Given the description of an element on the screen output the (x, y) to click on. 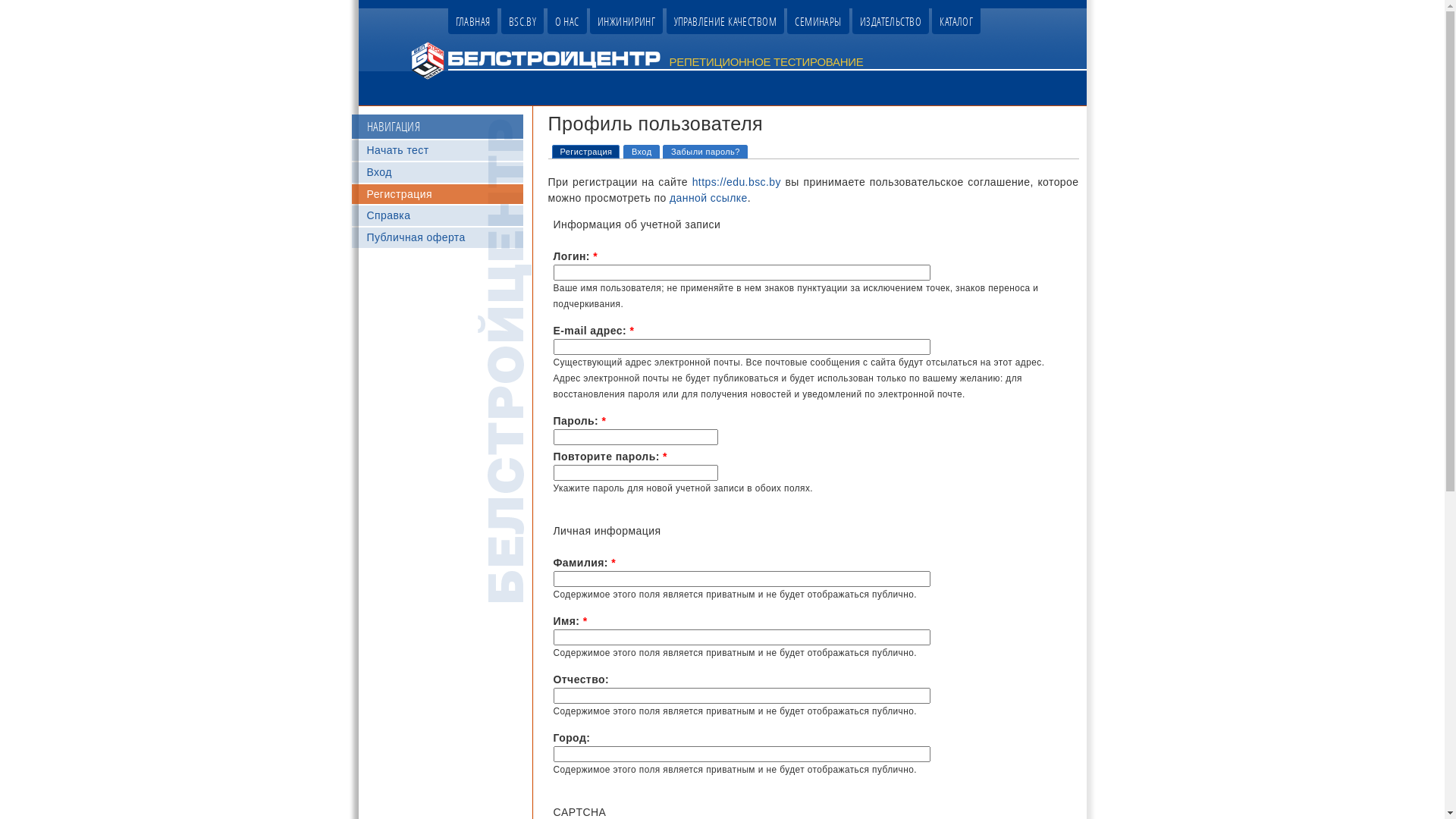
https://edu.bsc.by Element type: text (736, 181)
